Given the description of an element on the screen output the (x, y) to click on. 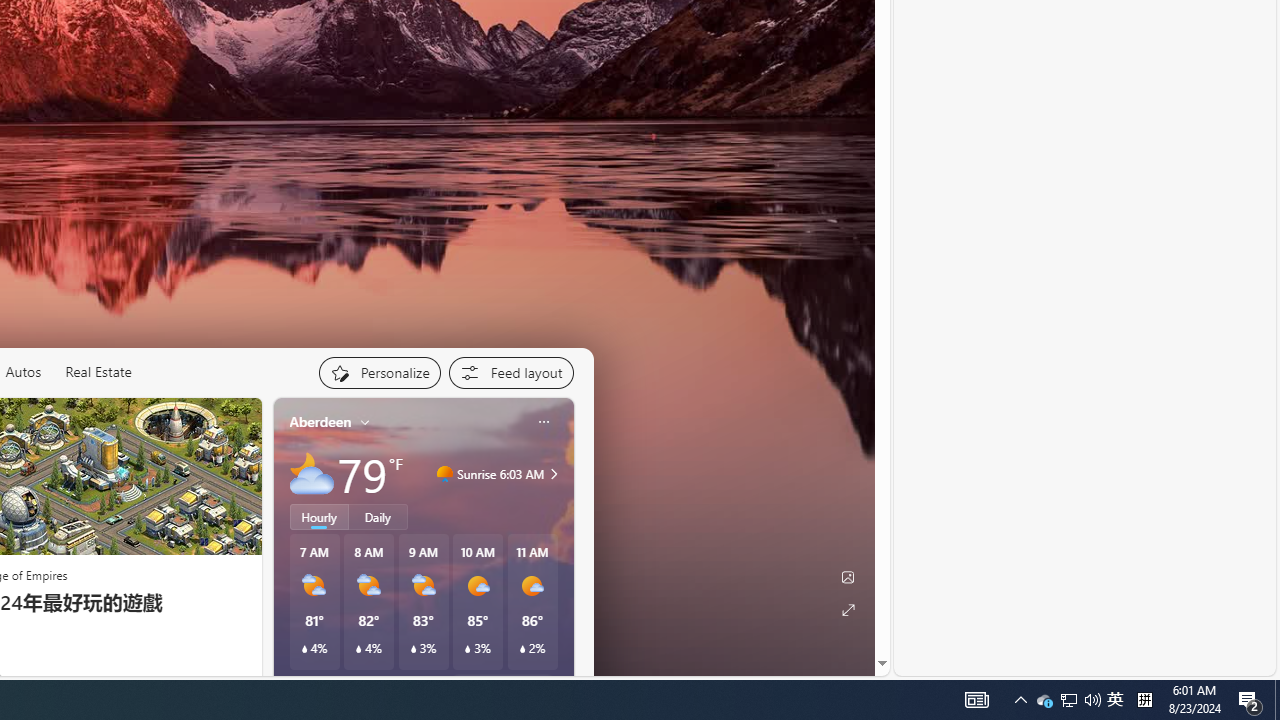
Daily (378, 516)
More options (543, 422)
Sunrise 6:03 AM (551, 474)
